Given the description of an element on the screen output the (x, y) to click on. 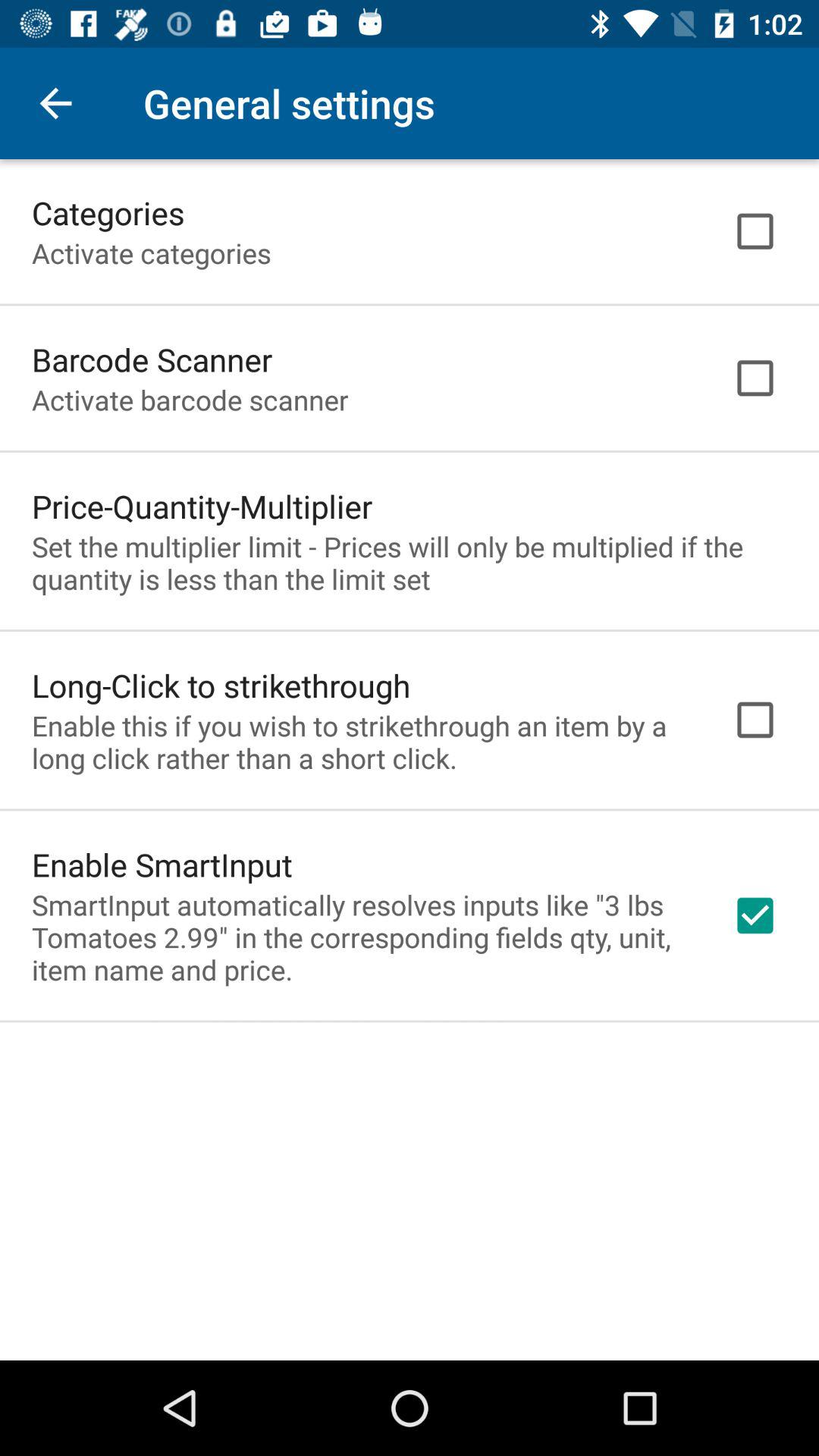
tap the icon below categories (151, 252)
